Given the description of an element on the screen output the (x, y) to click on. 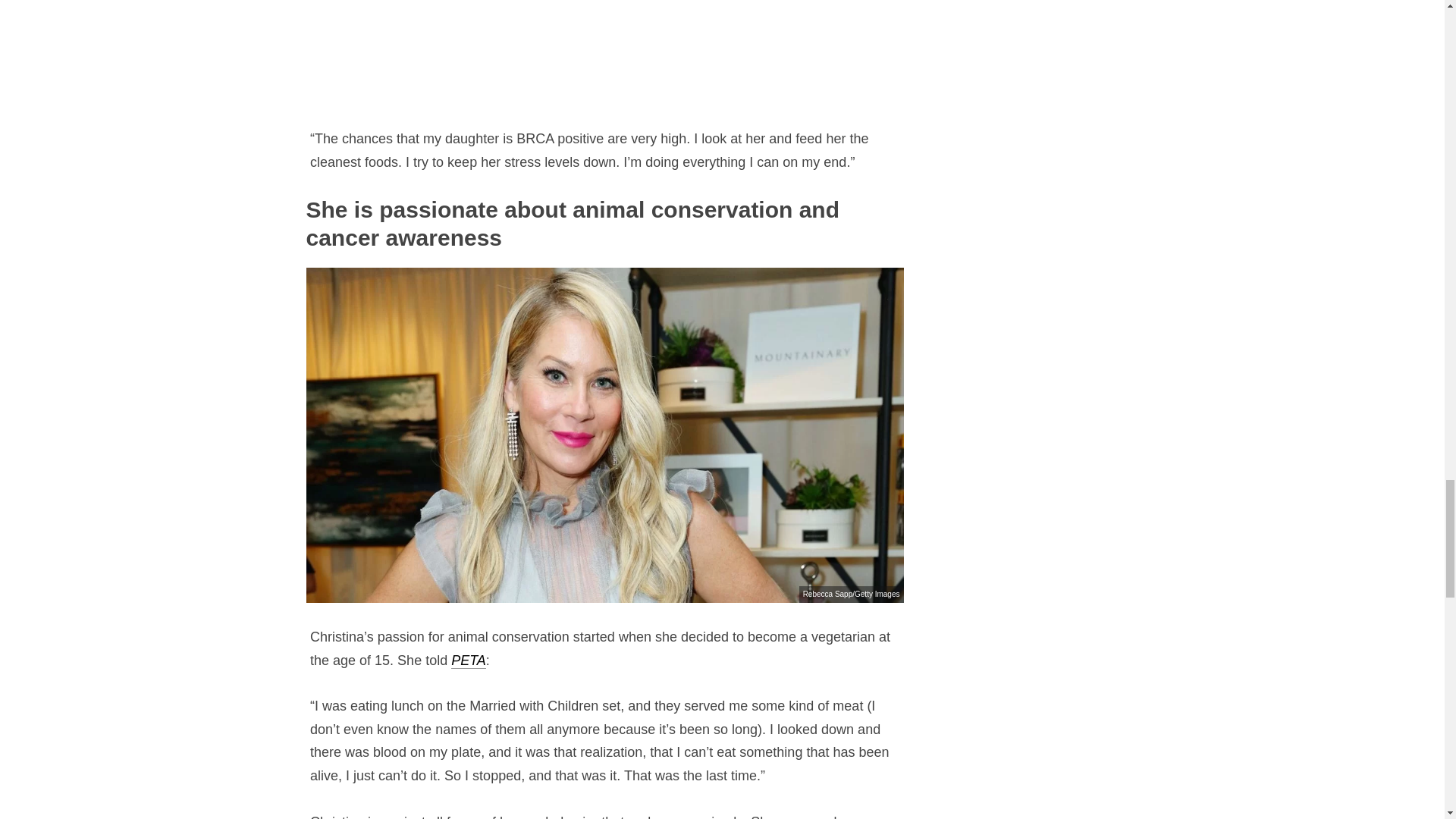
PETA (468, 660)
